Given the description of an element on the screen output the (x, y) to click on. 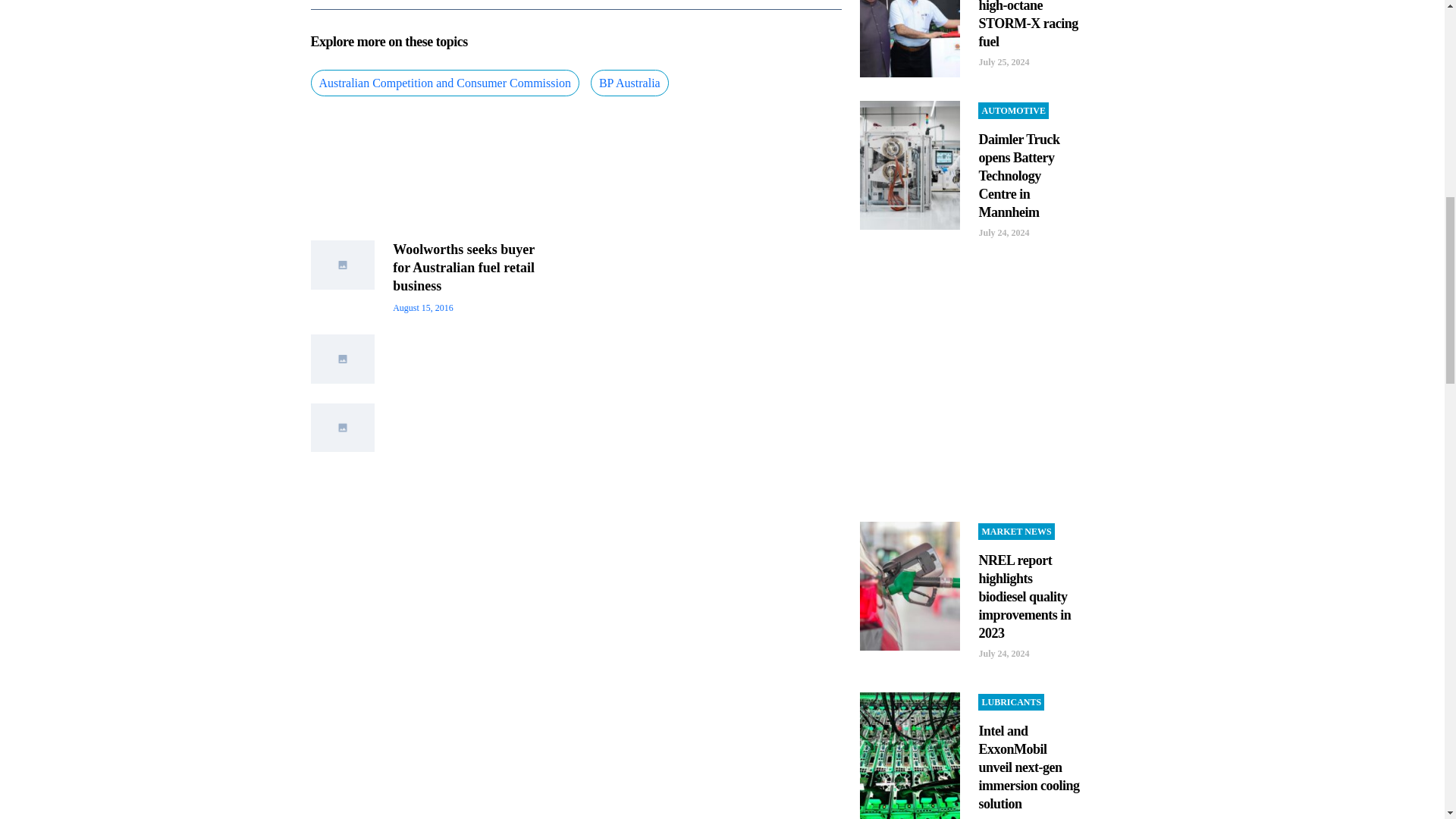
Woolworths seeks buyer for Australian fuel retail business (463, 267)
Australian Competition and Consumer Commission (445, 82)
August 15, 2016 (422, 307)
BP Australia (629, 82)
